Given the description of an element on the screen output the (x, y) to click on. 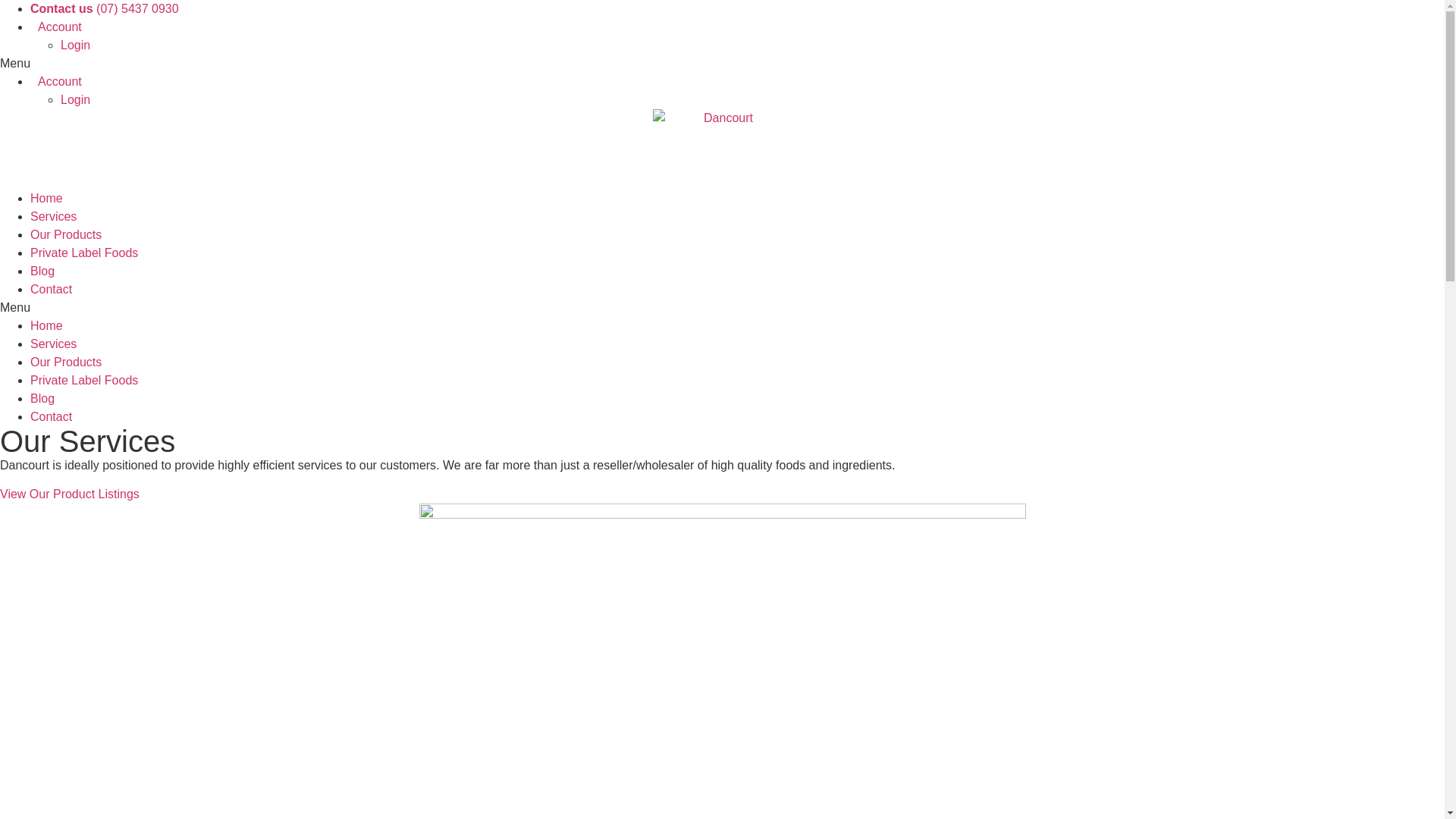
Blog Element type: text (42, 270)
Contact Element type: text (51, 288)
Our Products Element type: text (65, 361)
Home Element type: text (46, 325)
View Our Product Listings Element type: text (69, 493)
Login Element type: text (75, 99)
Account Element type: text (55, 26)
Contact Element type: text (51, 416)
Contact us (07) 5437 0930 Element type: text (104, 8)
Private Label Foods Element type: text (84, 252)
Blog Element type: text (42, 398)
Our Products Element type: text (65, 234)
Login Element type: text (75, 44)
Account Element type: text (55, 81)
Services Element type: text (53, 343)
Services Element type: text (53, 216)
Home Element type: text (46, 197)
Private Label Foods Element type: text (84, 379)
